Given the description of an element on the screen output the (x, y) to click on. 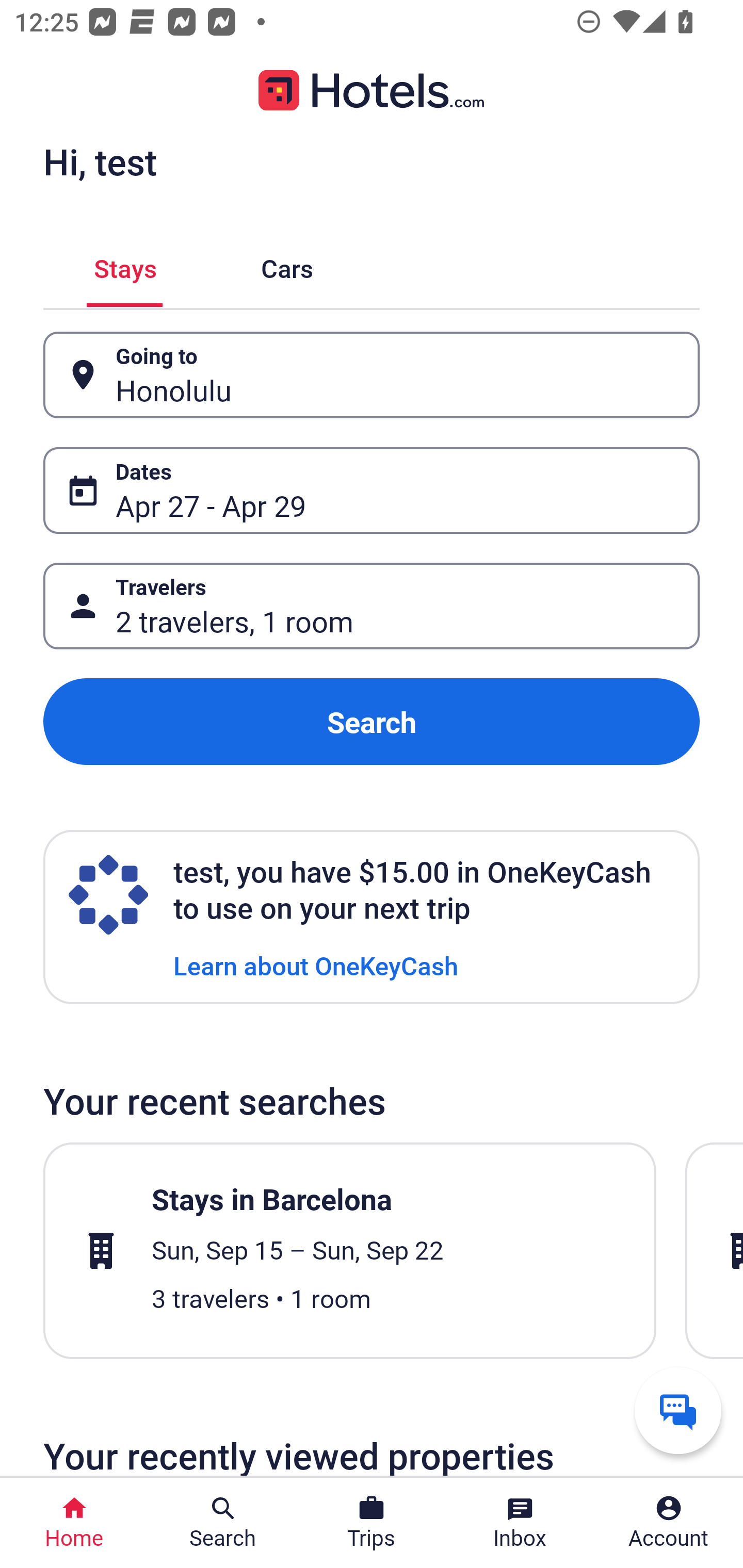
Hi, test (99, 161)
Cars (286, 265)
Going to Button Honolulu (371, 375)
Dates Button Apr 27 - Apr 29 (371, 489)
Travelers Button 2 travelers, 1 room (371, 605)
Search (371, 721)
Learn about OneKeyCash Learn about OneKeyCash Link (315, 964)
Get help from a virtual agent (677, 1410)
Search Search Button (222, 1522)
Trips Trips Button (371, 1522)
Inbox Inbox Button (519, 1522)
Account Profile. Button (668, 1522)
